Given the description of an element on the screen output the (x, y) to click on. 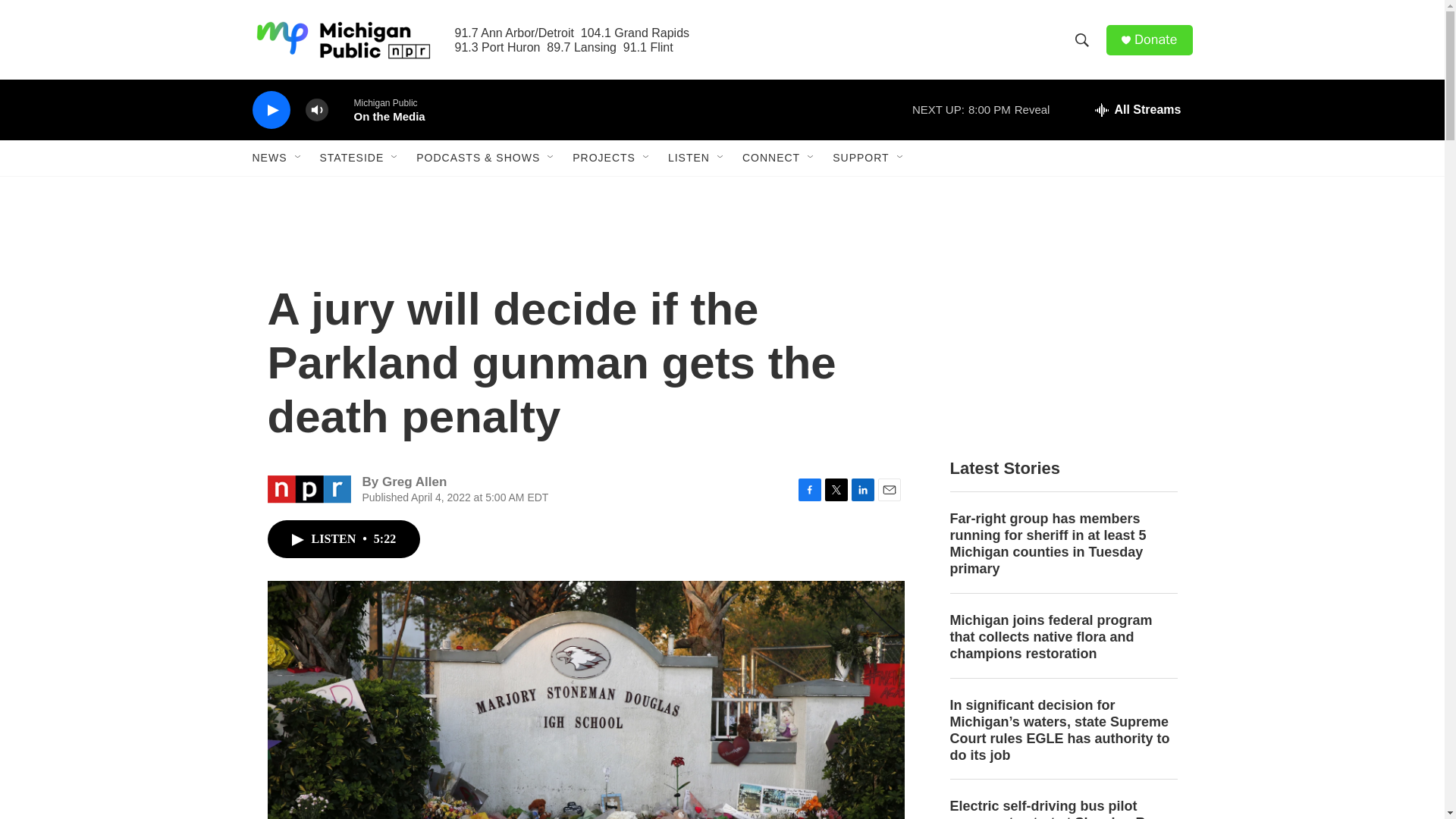
3rd party ad content (1062, 331)
